Given the description of an element on the screen output the (x, y) to click on. 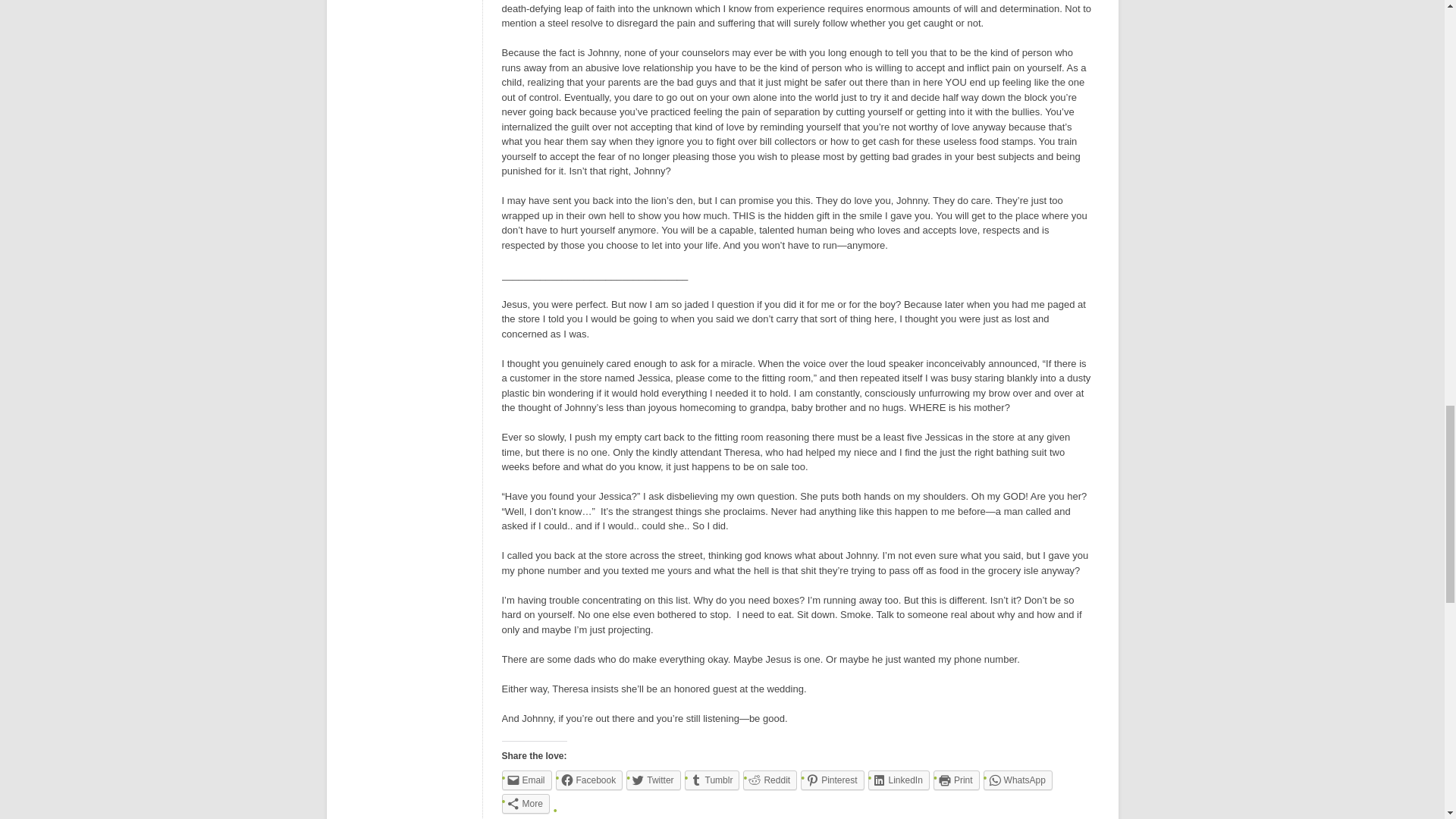
Facebook (589, 780)
Click to share on Reddit (769, 780)
Print (956, 780)
Twitter (652, 780)
Email (526, 780)
Reddit (769, 780)
Tumblr (711, 780)
Click to email a link to a friend (526, 780)
More (526, 803)
LinkedIn (897, 780)
Click to share on Facebook (589, 780)
WhatsApp (1018, 780)
Pinterest (831, 780)
Click to share on Tumblr (711, 780)
Click to share on Twitter (652, 780)
